Given the description of an element on the screen output the (x, y) to click on. 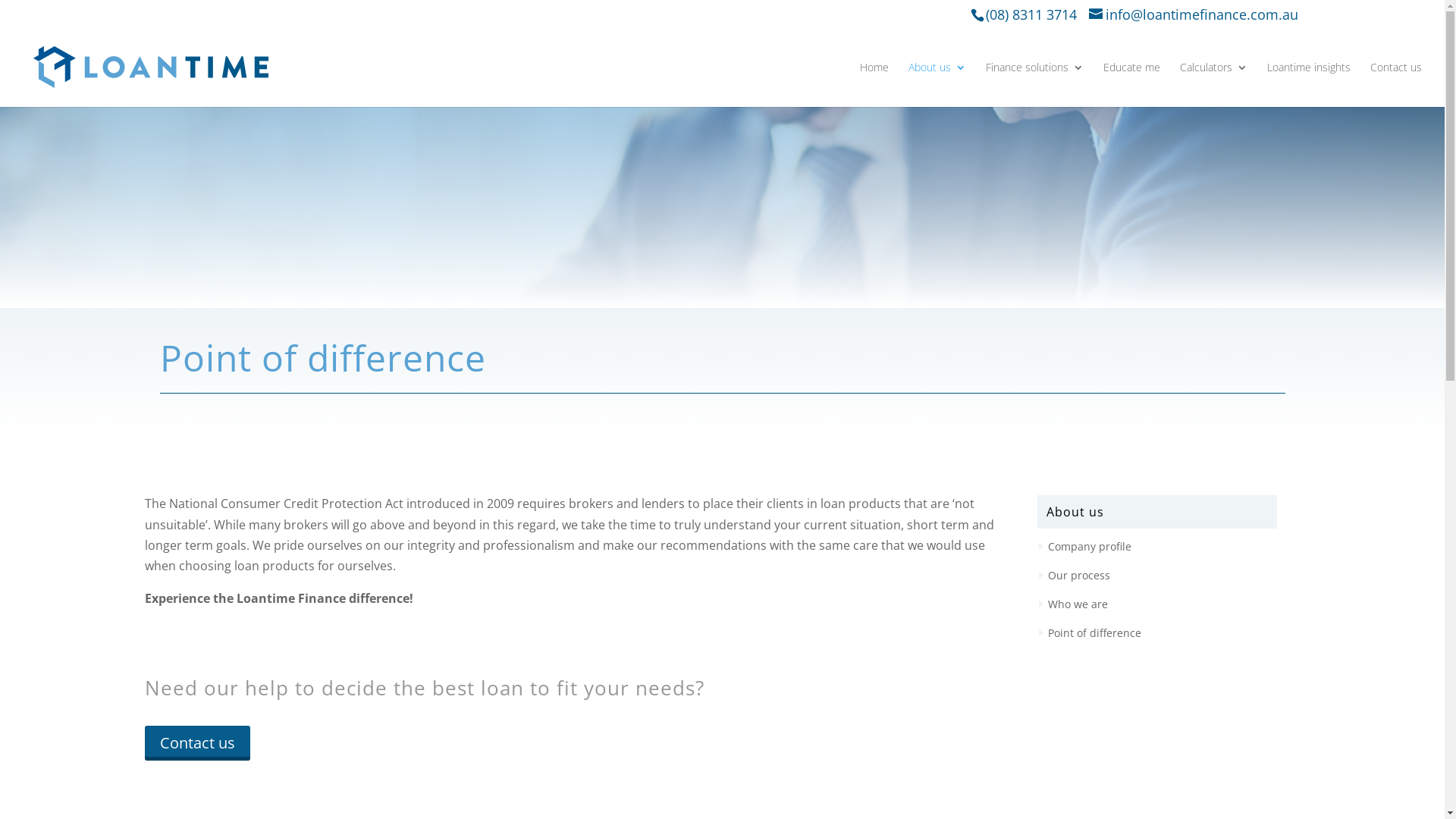
Our process Element type: text (1079, 574)
Calculators Element type: text (1213, 84)
About us Element type: text (937, 84)
Who we are Element type: text (1077, 603)
Finance solutions Element type: text (1034, 84)
Home Element type: text (873, 84)
info@loantimefinance.com.au Element type: text (1193, 15)
Educate me Element type: text (1131, 84)
Point of difference Element type: text (1094, 632)
Contact us Element type: text (1395, 84)
Company profile Element type: text (1089, 546)
Contact us Element type: text (196, 742)
Loantime insights Element type: text (1308, 84)
